Given the description of an element on the screen output the (x, y) to click on. 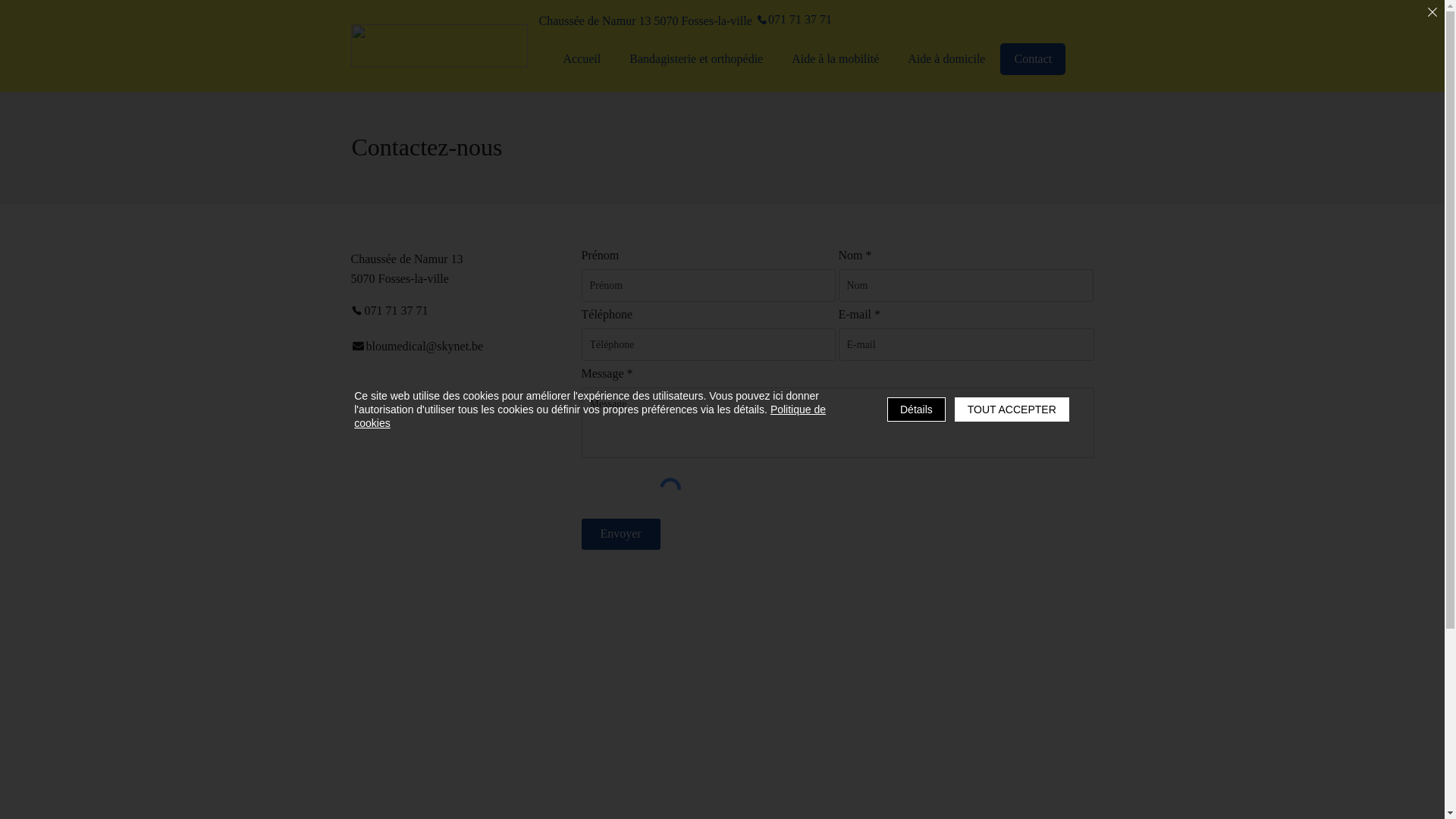
Accueil Element type: text (581, 59)
Contact Element type: text (1032, 59)
071 71 37 71 Element type: text (404, 310)
Politique de cookies Element type: text (589, 416)
Envoyer Element type: text (619, 533)
bloumedical@skynet.be Element type: text (425, 345)
TOUT ACCEPTER Element type: text (1011, 409)
071 71 37 71 Element type: text (794, 19)
